Given the description of an element on the screen output the (x, y) to click on. 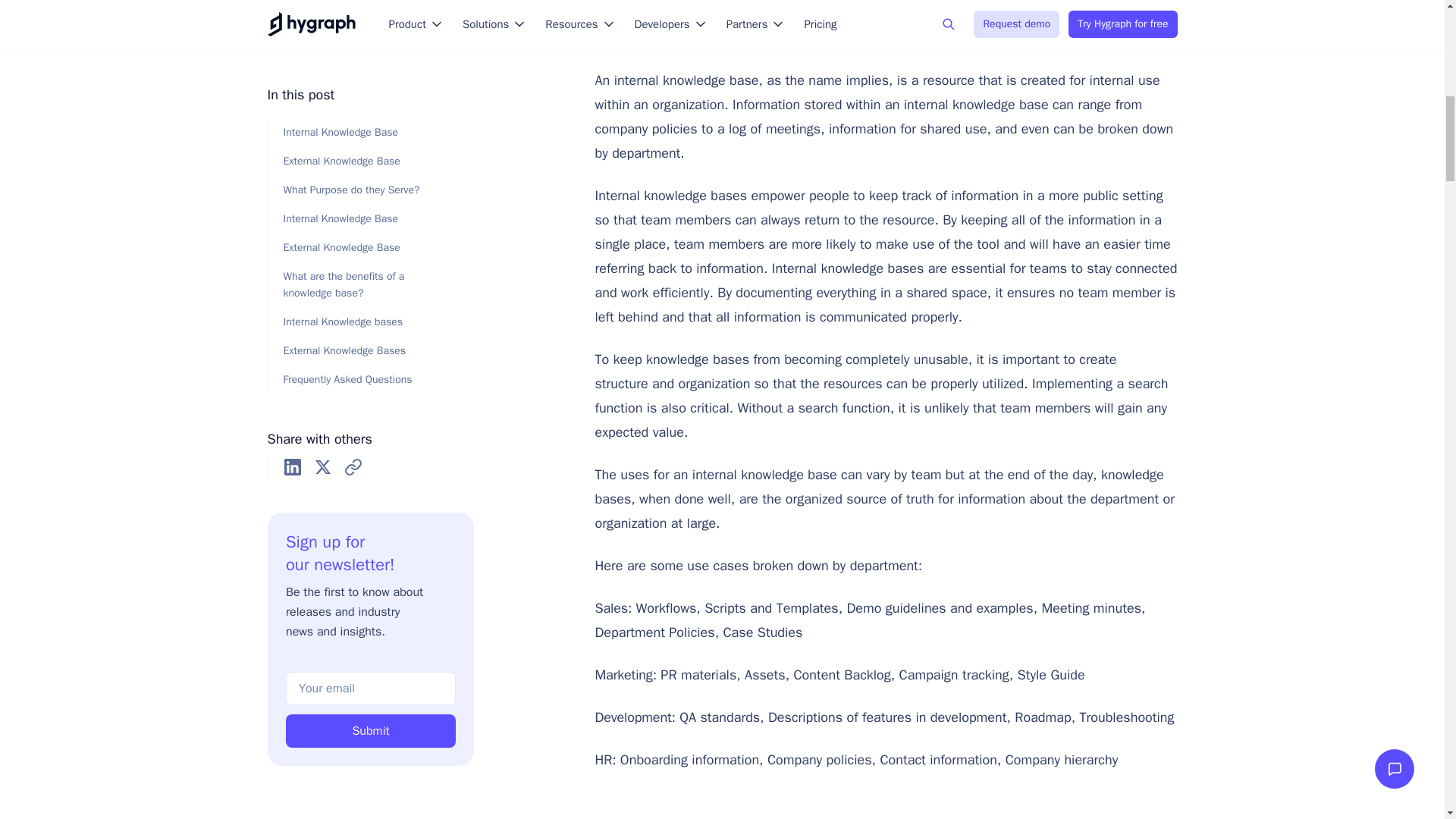
Internal Knowledge Base (879, 27)
